Given the description of an element on the screen output the (x, y) to click on. 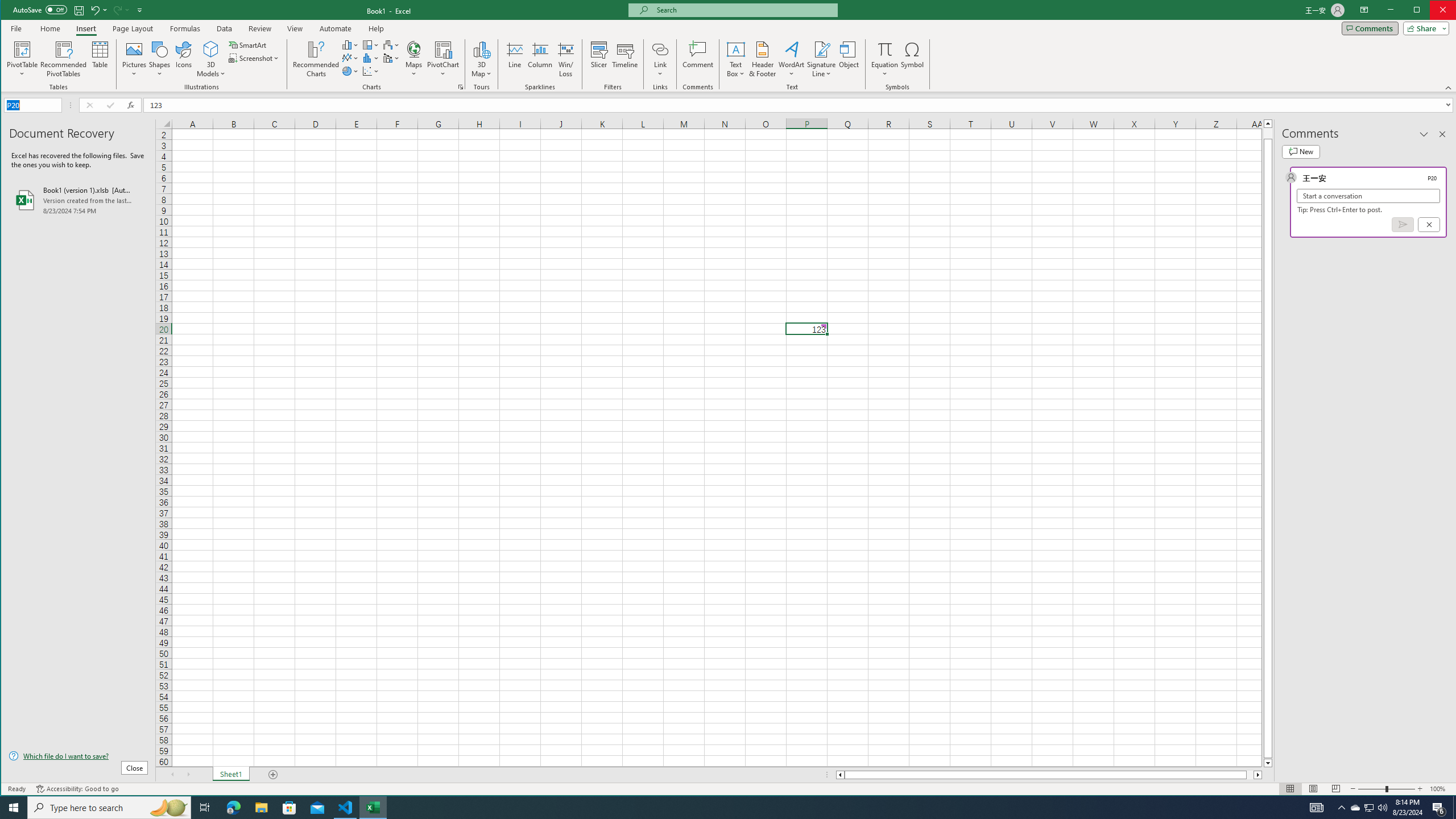
Insert Scatter (X, Y) or Bubble Chart (371, 70)
Link (659, 48)
Notification Chevron (1341, 807)
Equation (884, 59)
Insert Statistic Chart (371, 57)
Start (13, 807)
Which file do I want to save? (78, 755)
